Given the description of an element on the screen output the (x, y) to click on. 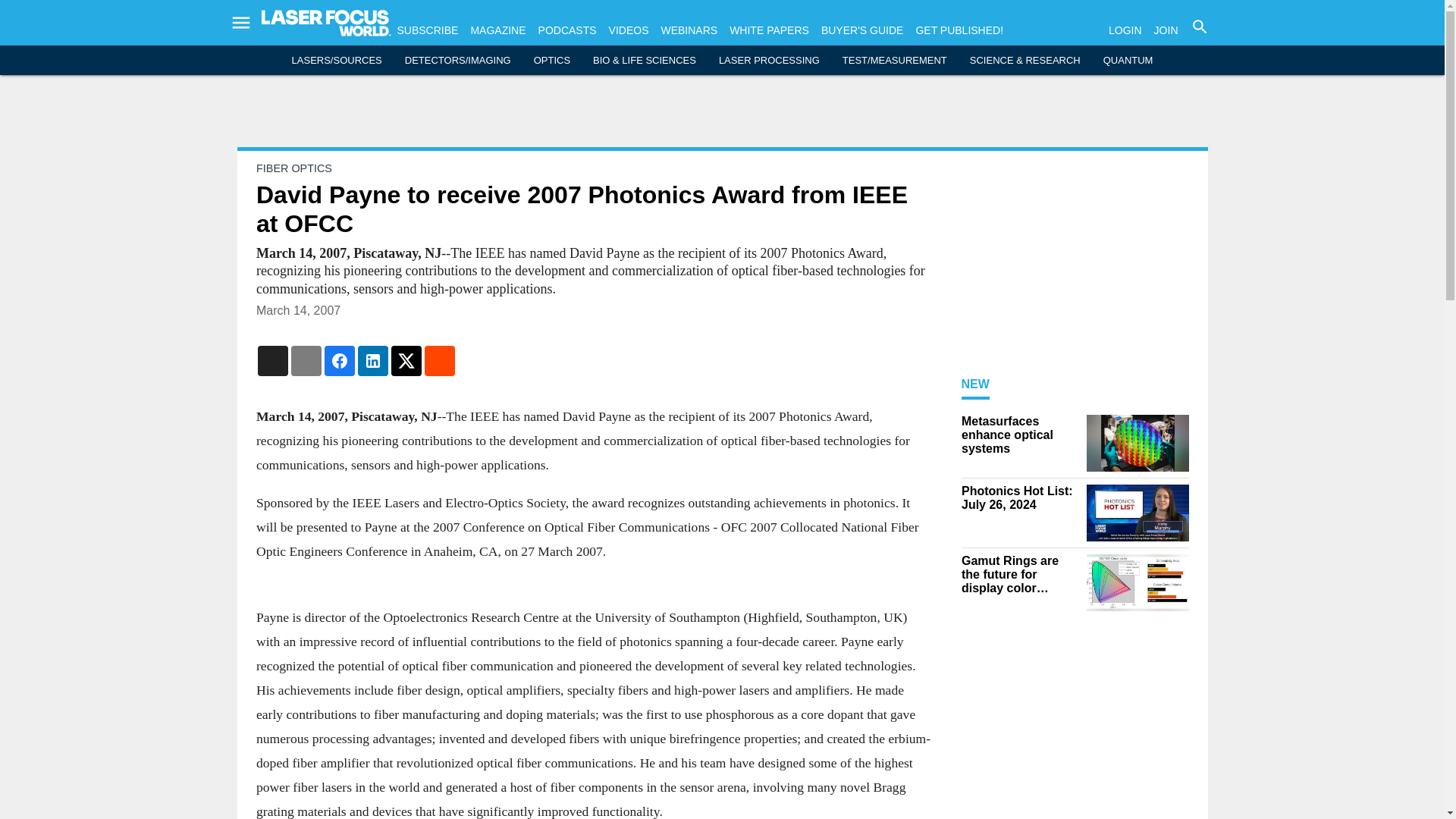
PODCASTS (567, 30)
JOIN (1165, 30)
BUYER'S GUIDE (861, 30)
WHITE PAPERS (769, 30)
OPTICS (552, 60)
LOGIN (1124, 30)
QUANTUM (1128, 60)
LASER PROCESSING (769, 60)
SUBSCRIBE (427, 30)
WEBINARS (689, 30)
MAGAZINE (497, 30)
VIDEOS (628, 30)
GET PUBLISHED! (959, 30)
